Given the description of an element on the screen output the (x, y) to click on. 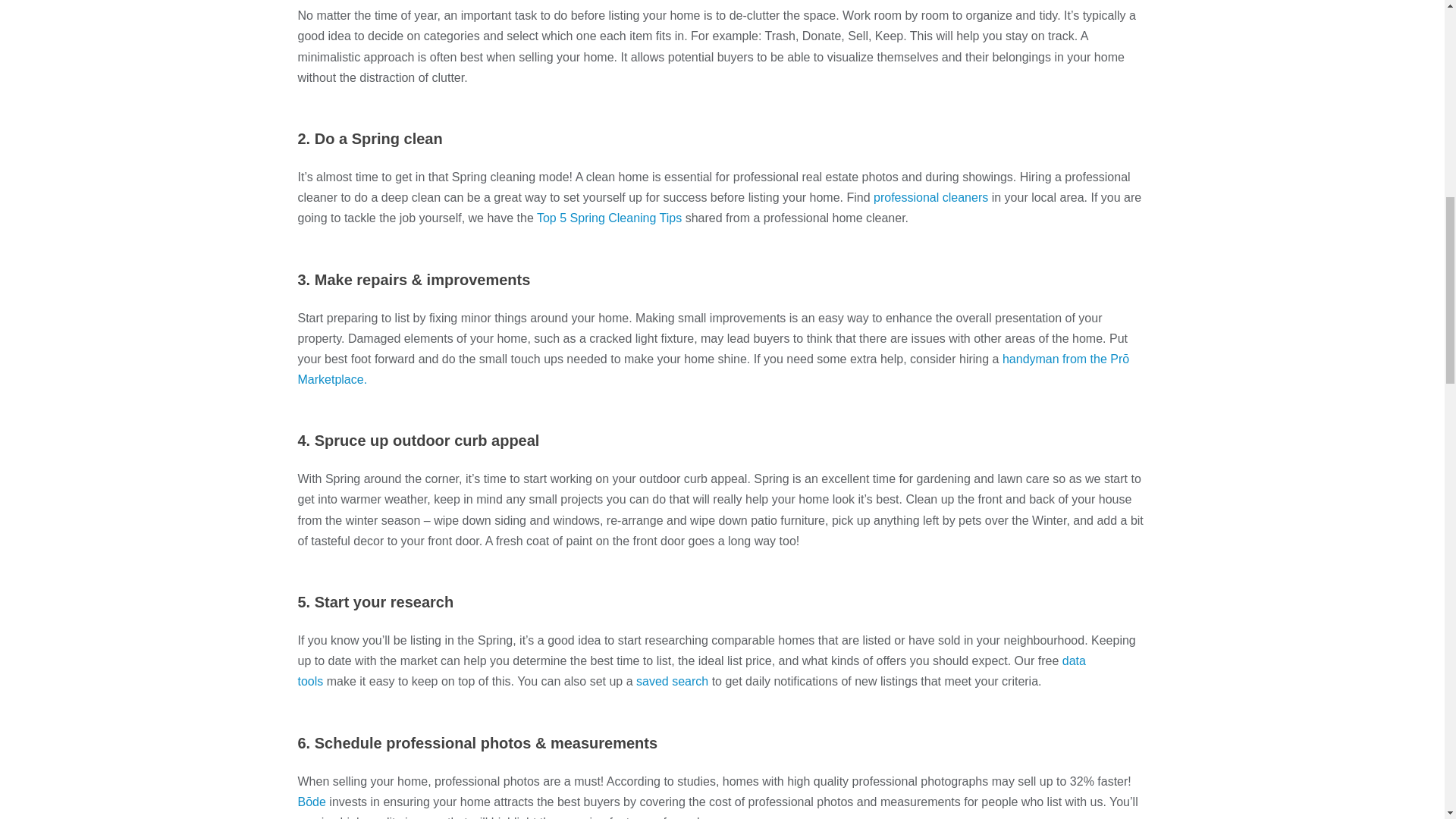
Top 5 Spring Cleaning Tips (609, 217)
professional cleaners (930, 196)
saved search (671, 680)
data tools (690, 670)
